Given the description of an element on the screen output the (x, y) to click on. 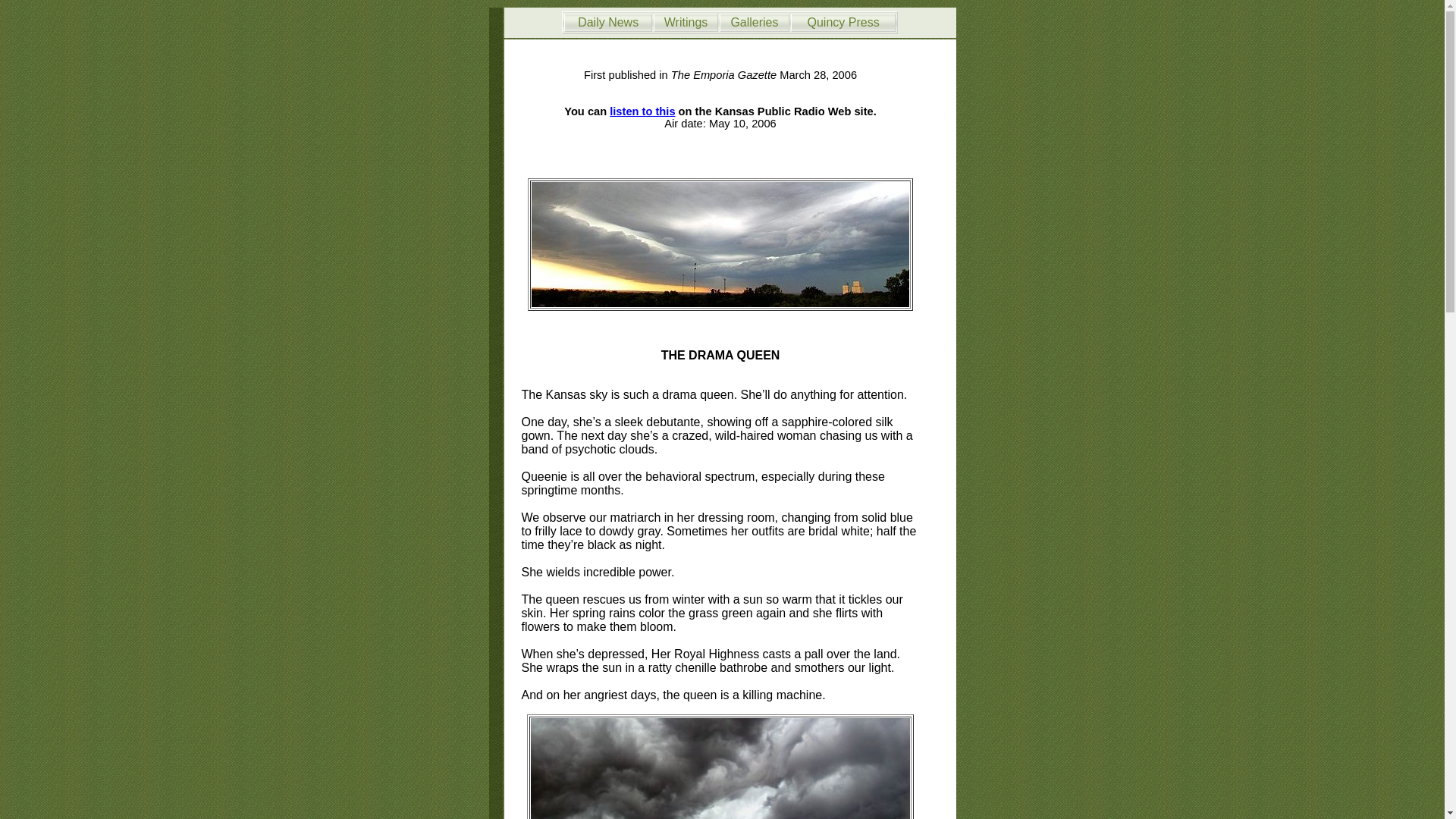
listen to this (642, 111)
Daily News (608, 21)
Writings (685, 21)
Quincy Press (842, 21)
Galleries (753, 21)
